Given the description of an element on the screen output the (x, y) to click on. 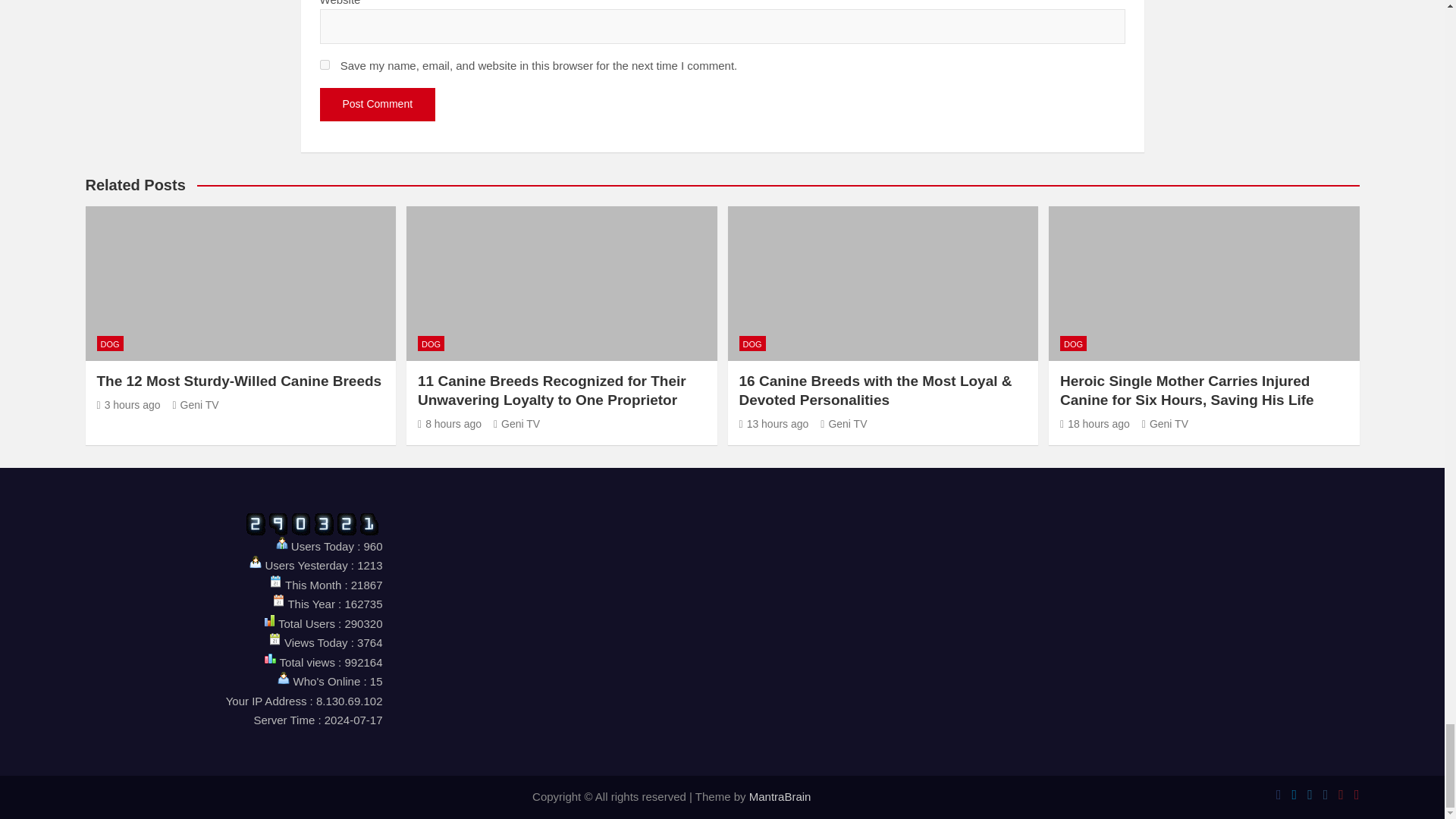
Post Comment (377, 104)
yes (325, 64)
